Given the description of an element on the screen output the (x, y) to click on. 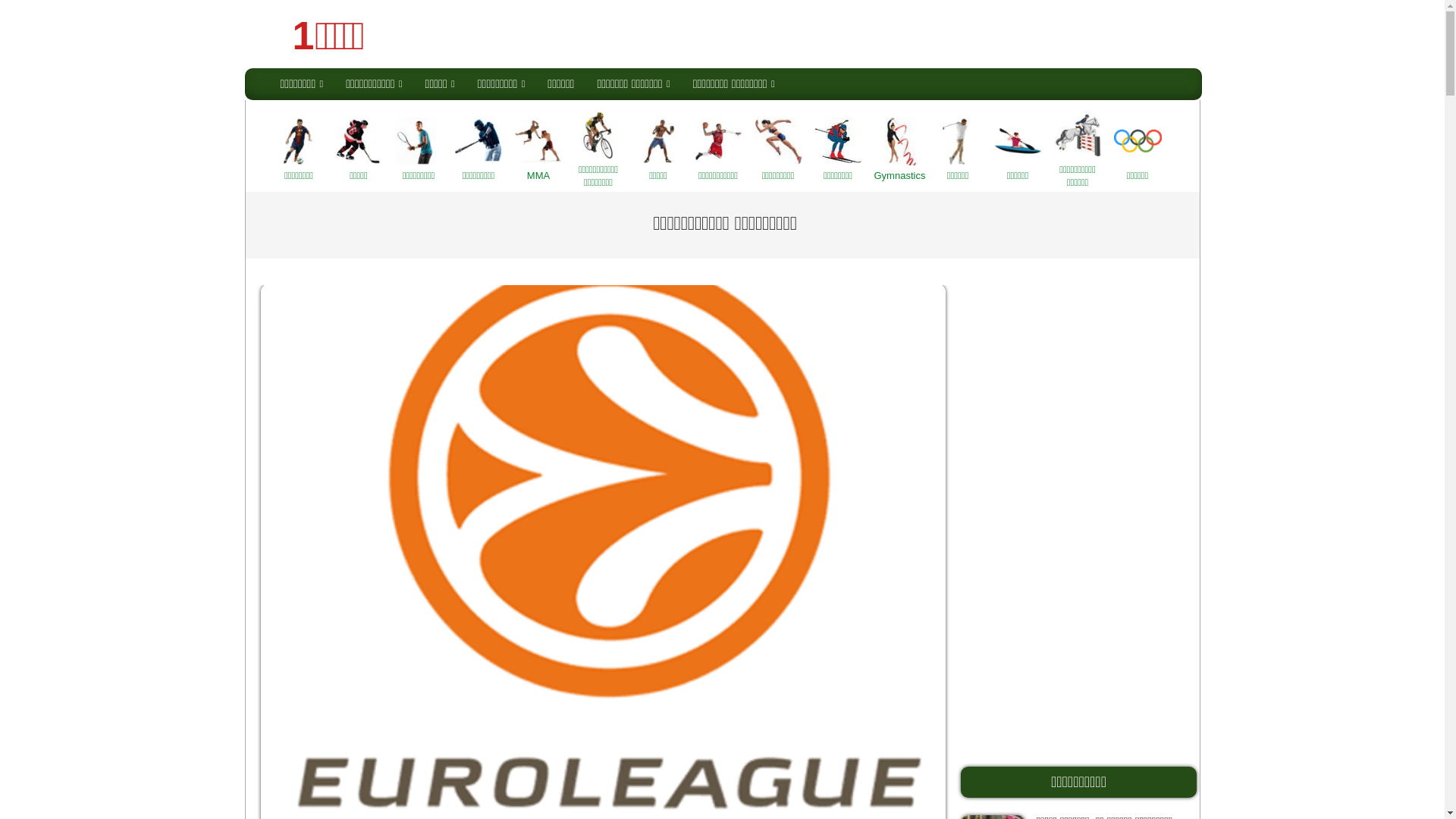
Gymnastics Element type: text (898, 148)
MMA Element type: text (538, 148)
